Given the description of an element on the screen output the (x, y) to click on. 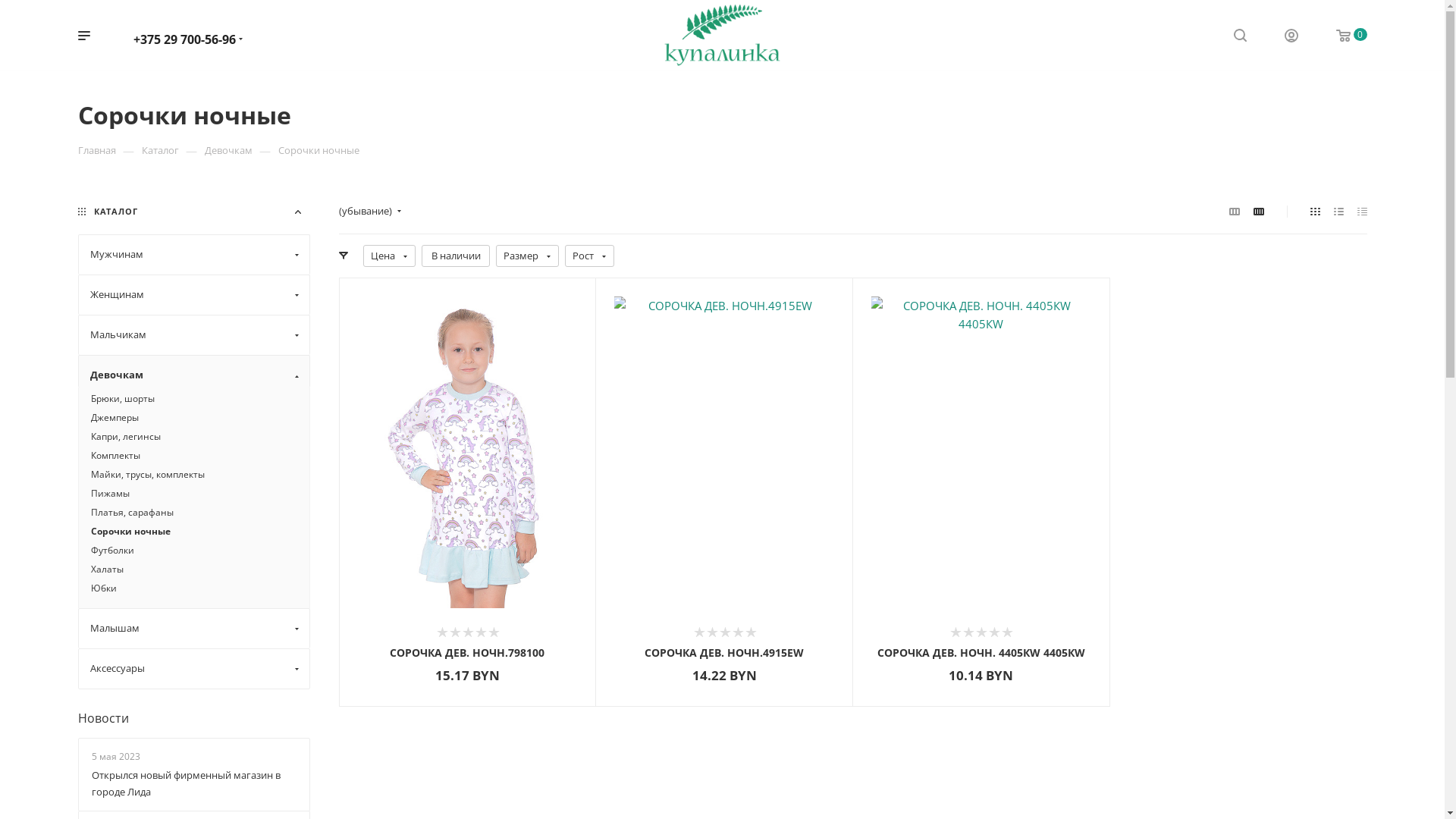
+375 29 700-56-96 Element type: text (184, 38)
2 Element type: hover (454, 632)
4 Element type: hover (737, 632)
Y Element type: text (4, 4)
1 Element type: hover (954, 632)
3 Element type: hover (980, 632)
2 Element type: hover (967, 632)
5 Element type: hover (749, 632)
5 Element type: hover (492, 632)
0 Element type: text (1340, 36)
4 Element type: hover (993, 632)
3 Element type: hover (724, 632)
3 Element type: hover (467, 632)
1 Element type: hover (698, 632)
4 Element type: hover (479, 632)
1 Element type: hover (441, 632)
5 Element type: hover (1006, 632)
2 Element type: hover (711, 632)
